Given the description of an element on the screen output the (x, y) to click on. 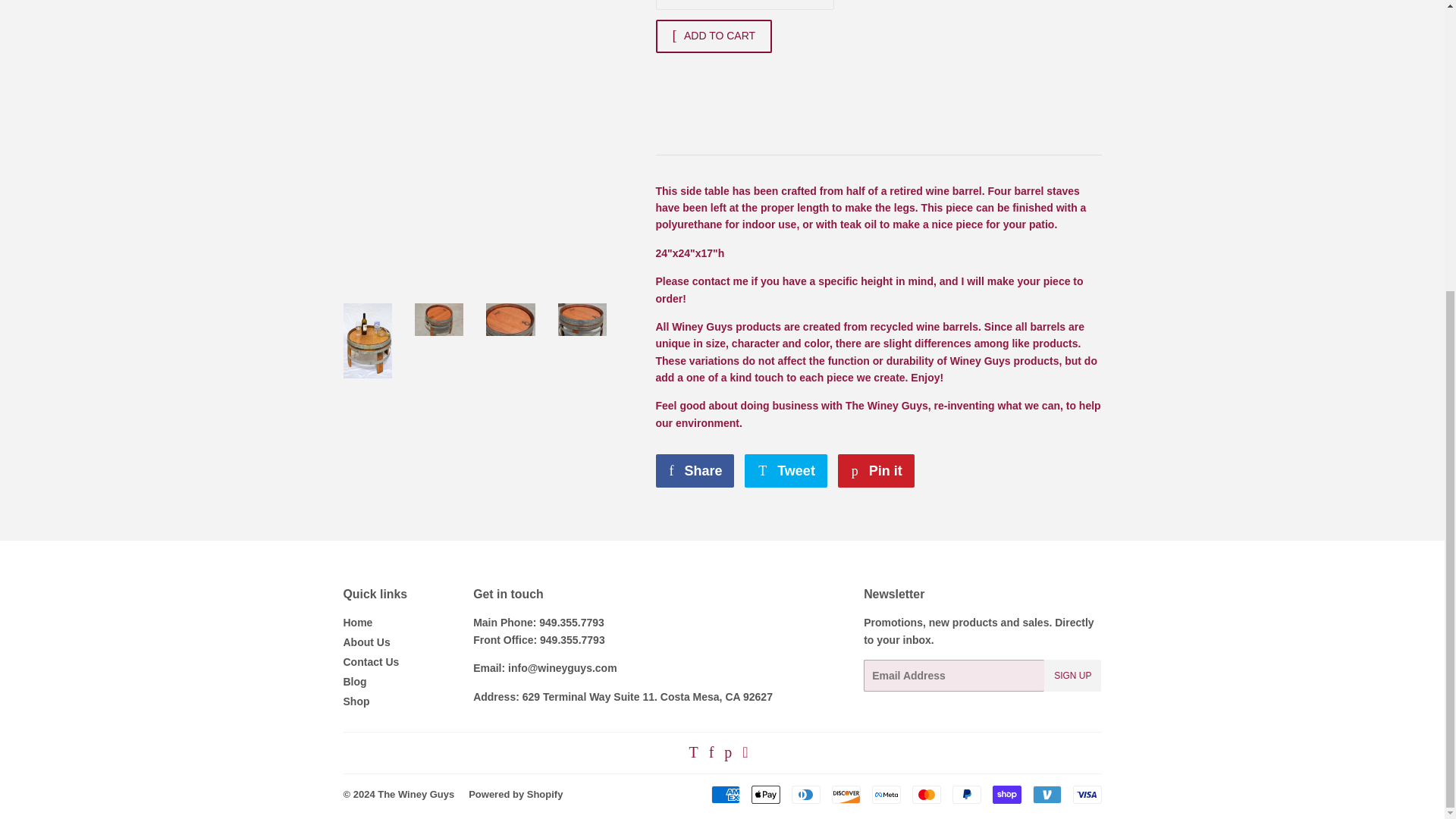
Pin on Pinterest (876, 470)
Apple Pay (764, 794)
Diners Club (806, 794)
Tweet on Twitter (785, 470)
American Express (725, 794)
Share on Facebook (694, 470)
Discover (845, 794)
Venmo (1046, 794)
Shop Pay (1005, 794)
Meta Pay (886, 794)
Visa (1085, 794)
Mastercard (925, 794)
PayPal (966, 794)
